Given the description of an element on the screen output the (x, y) to click on. 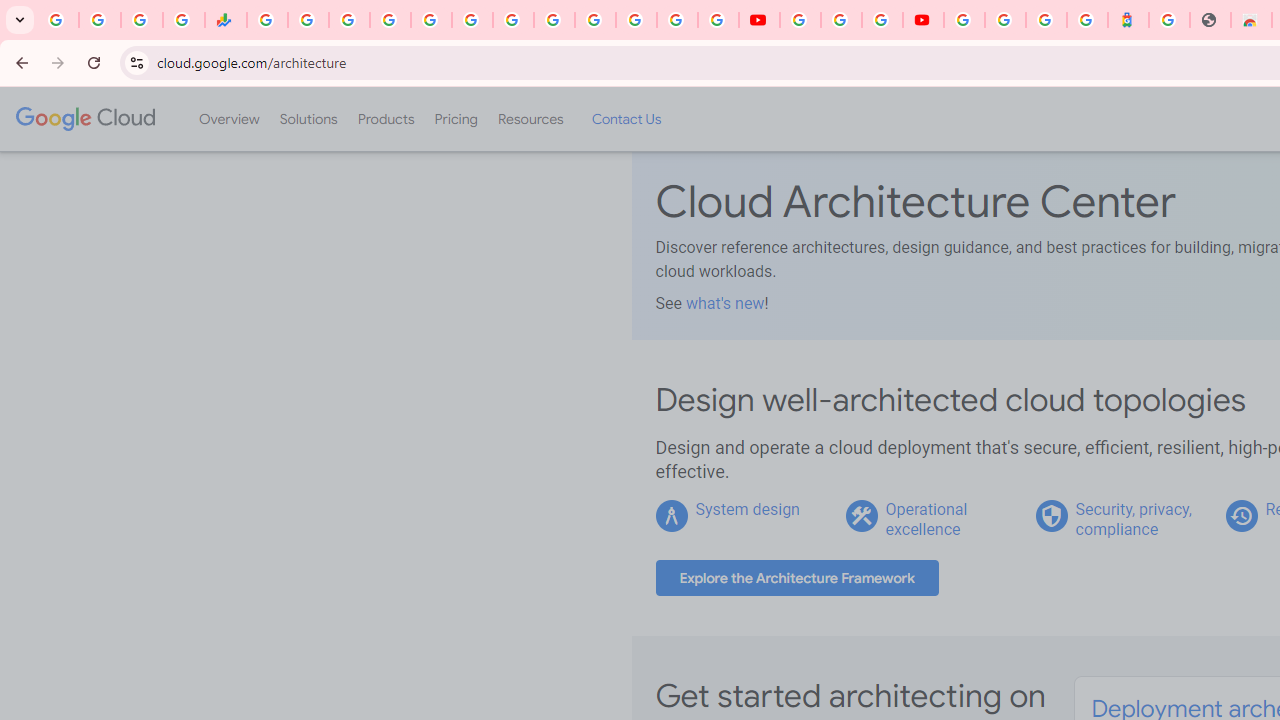
Content Creator Programs & Opportunities - YouTube Creators (923, 20)
Explore the Architecture Framework (797, 578)
